Given the description of an element on the screen output the (x, y) to click on. 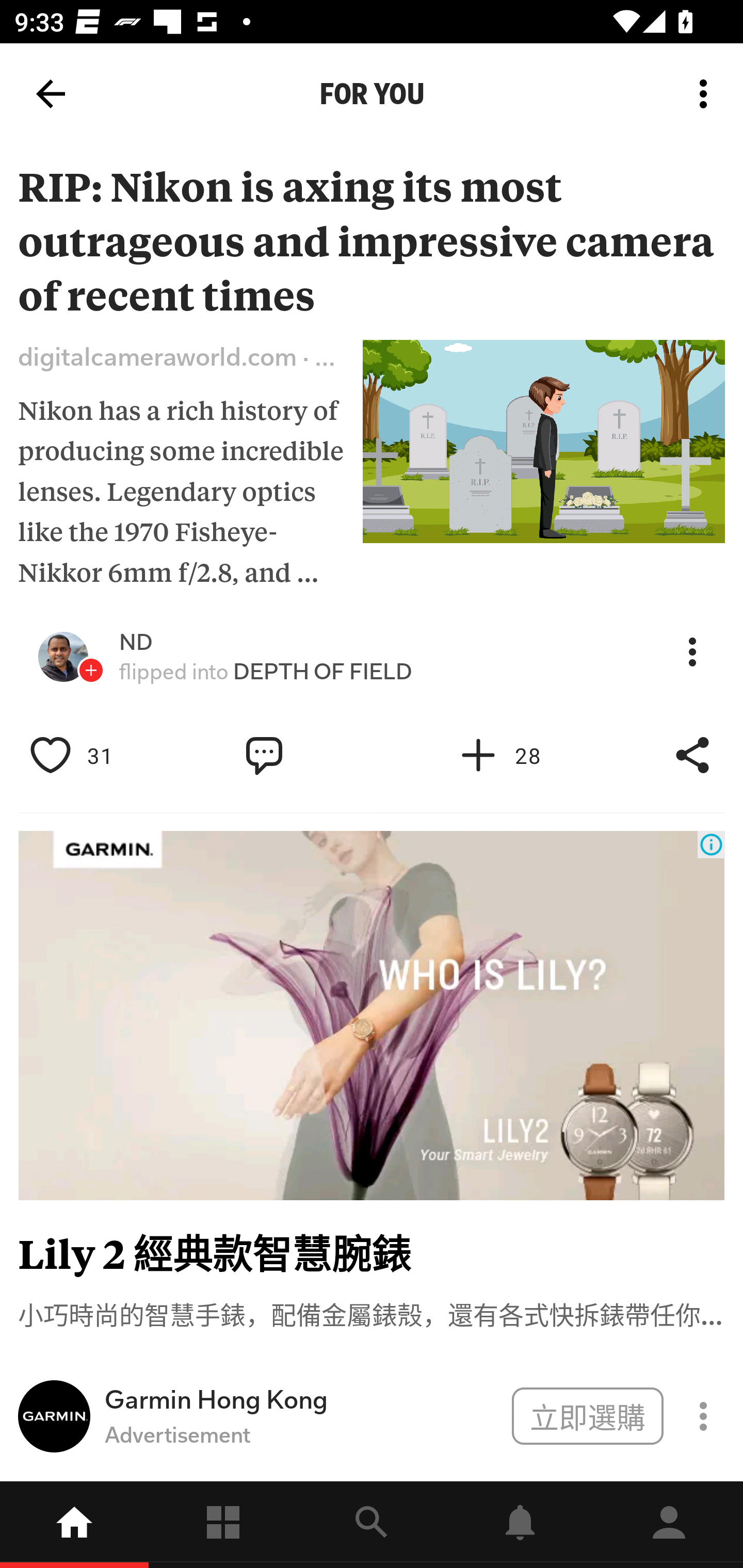
Back (50, 93)
FOR YOU (371, 93)
More options (706, 93)
More (692, 651)
ND (135, 641)
flipped into DEPTH OF FIELD (265, 671)
Like 31 (93, 755)
Write a comment… (307, 755)
Flip into Magazine 28 (521, 755)
Share (692, 755)
Ad Choices Icon (711, 844)
小巧時尚的智慧手錶，配備金屬錶殼，還有各式快拆錶帶任你選擇搭配，讓妳完美打造各種時尚造型。 (371, 1313)
立即選購 (587, 1415)
home (74, 1524)
Following (222, 1524)
explore (371, 1524)
Notifications (519, 1524)
Profile (668, 1524)
